Given the description of an element on the screen output the (x, y) to click on. 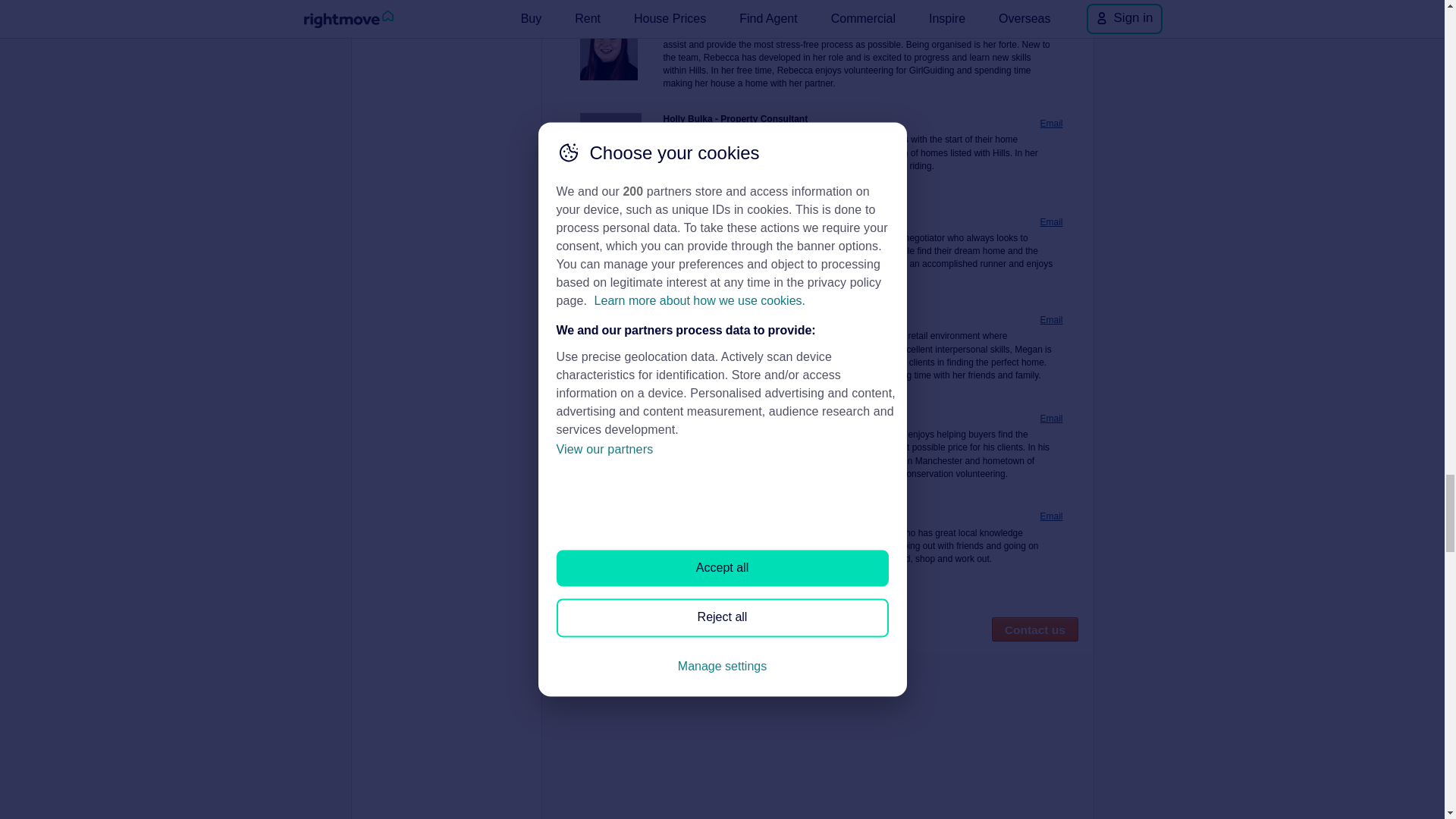
Email (1051, 222)
Email (1051, 319)
Email (1051, 516)
Email (1051, 418)
Email (1051, 15)
Email (1051, 123)
